Given the description of an element on the screen output the (x, y) to click on. 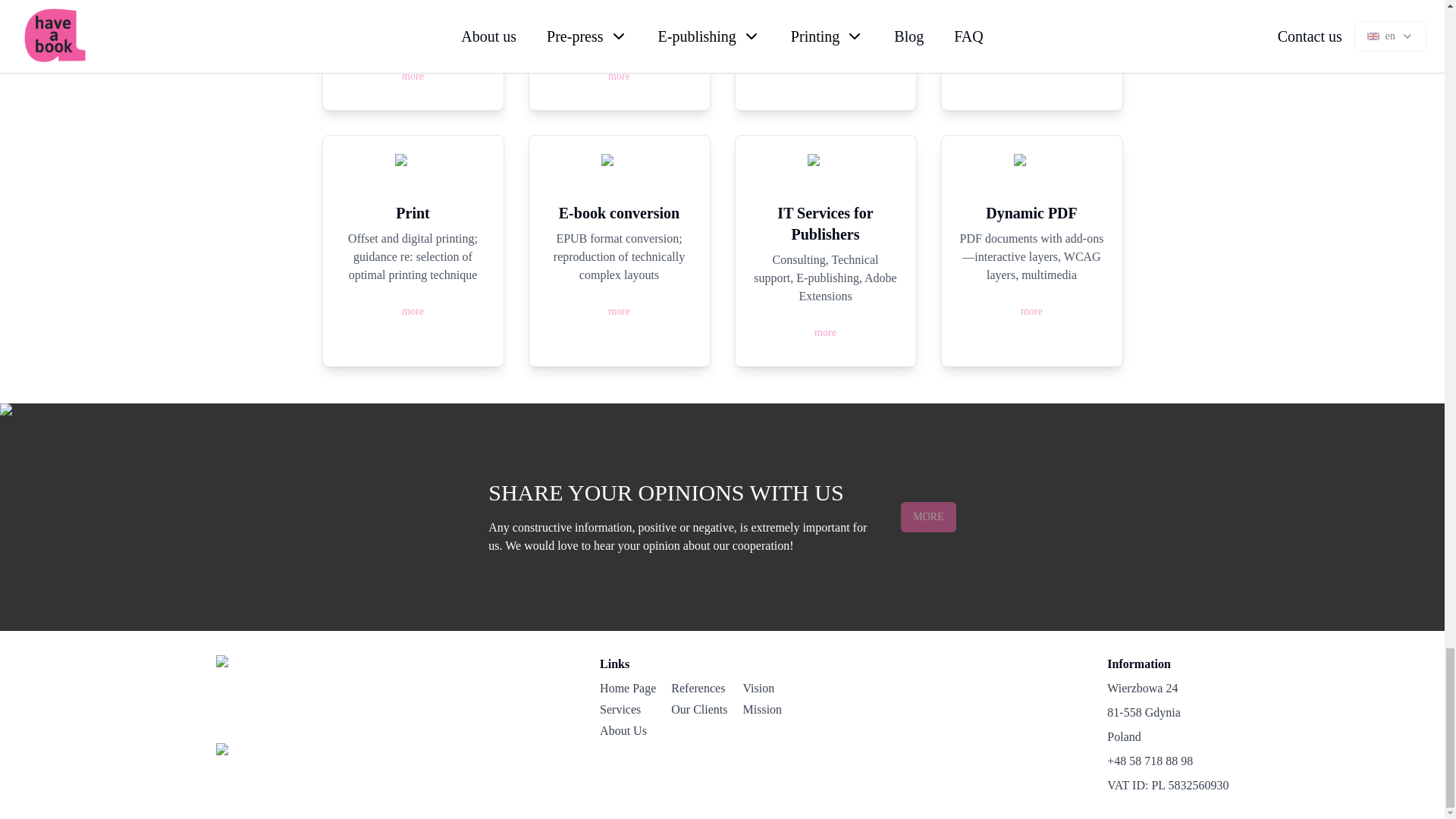
more (1031, 309)
more (618, 74)
more (412, 311)
more (825, 58)
more (825, 332)
more (412, 309)
About Us (627, 730)
more (1031, 311)
Our Clients (698, 710)
Vision (770, 688)
